Given the description of an element on the screen output the (x, y) to click on. 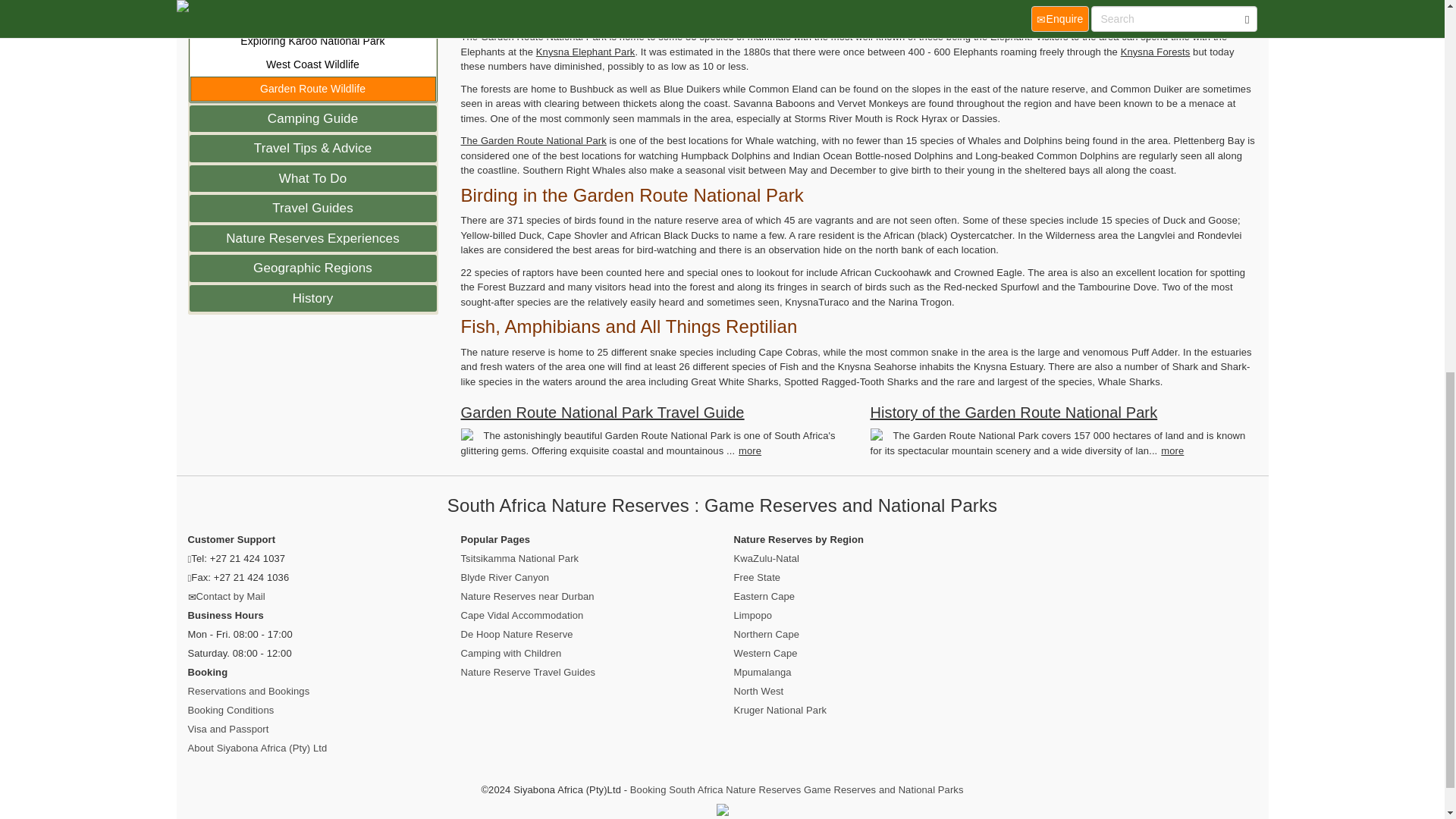
Travel Guides (312, 207)
Exploring Karoo National Park (312, 40)
West Coast Wildlife (312, 64)
Nature Reserves Experiences (312, 237)
History (312, 298)
Wildlife of iSimangaliso (312, 2)
Geographic Regions (312, 267)
Garden Route Wildlife (312, 88)
Camping Guide (312, 117)
Bontebok National Park (312, 17)
